Given the description of an element on the screen output the (x, y) to click on. 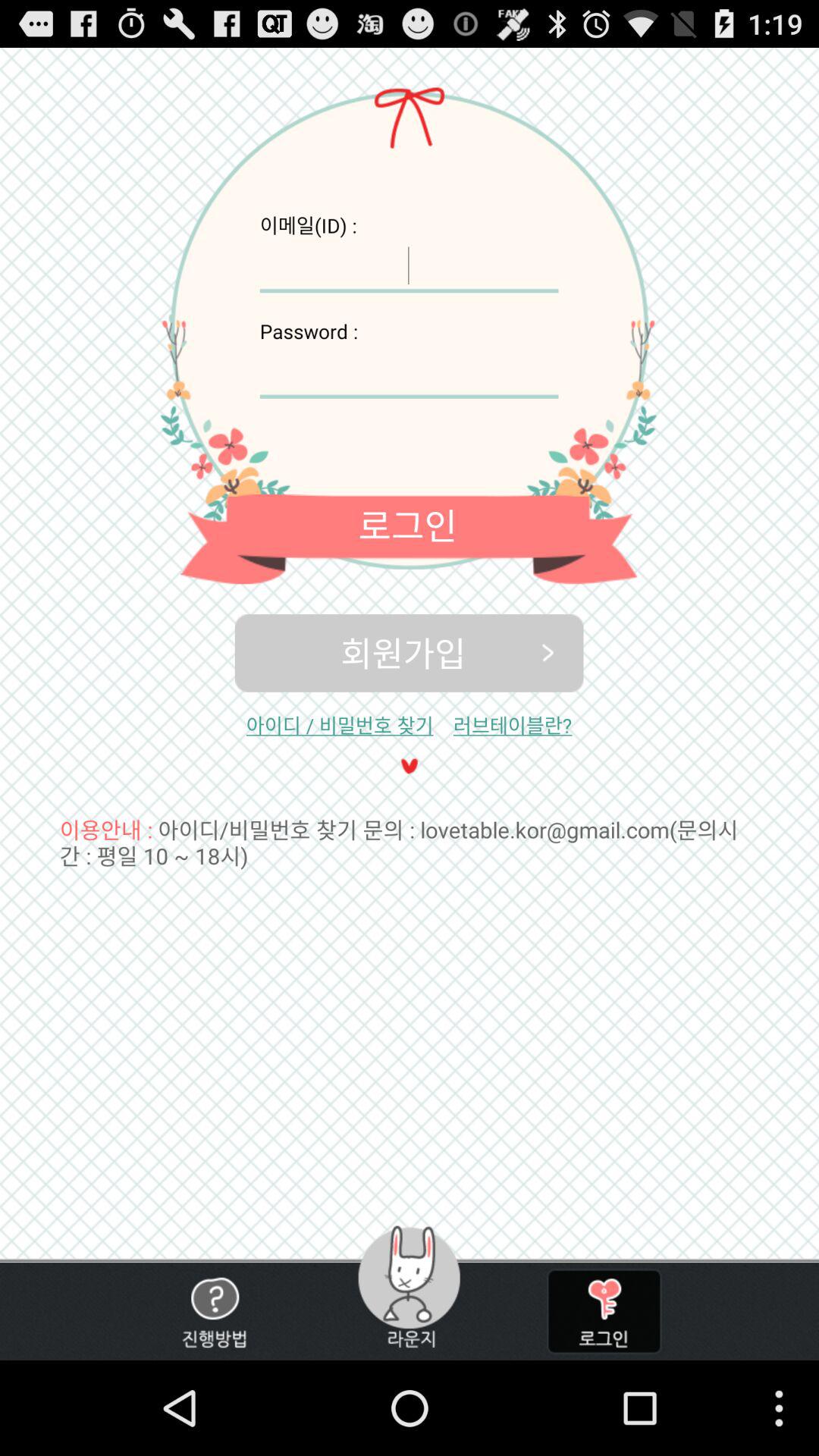
unlock app (604, 1311)
